Given the description of an element on the screen output the (x, y) to click on. 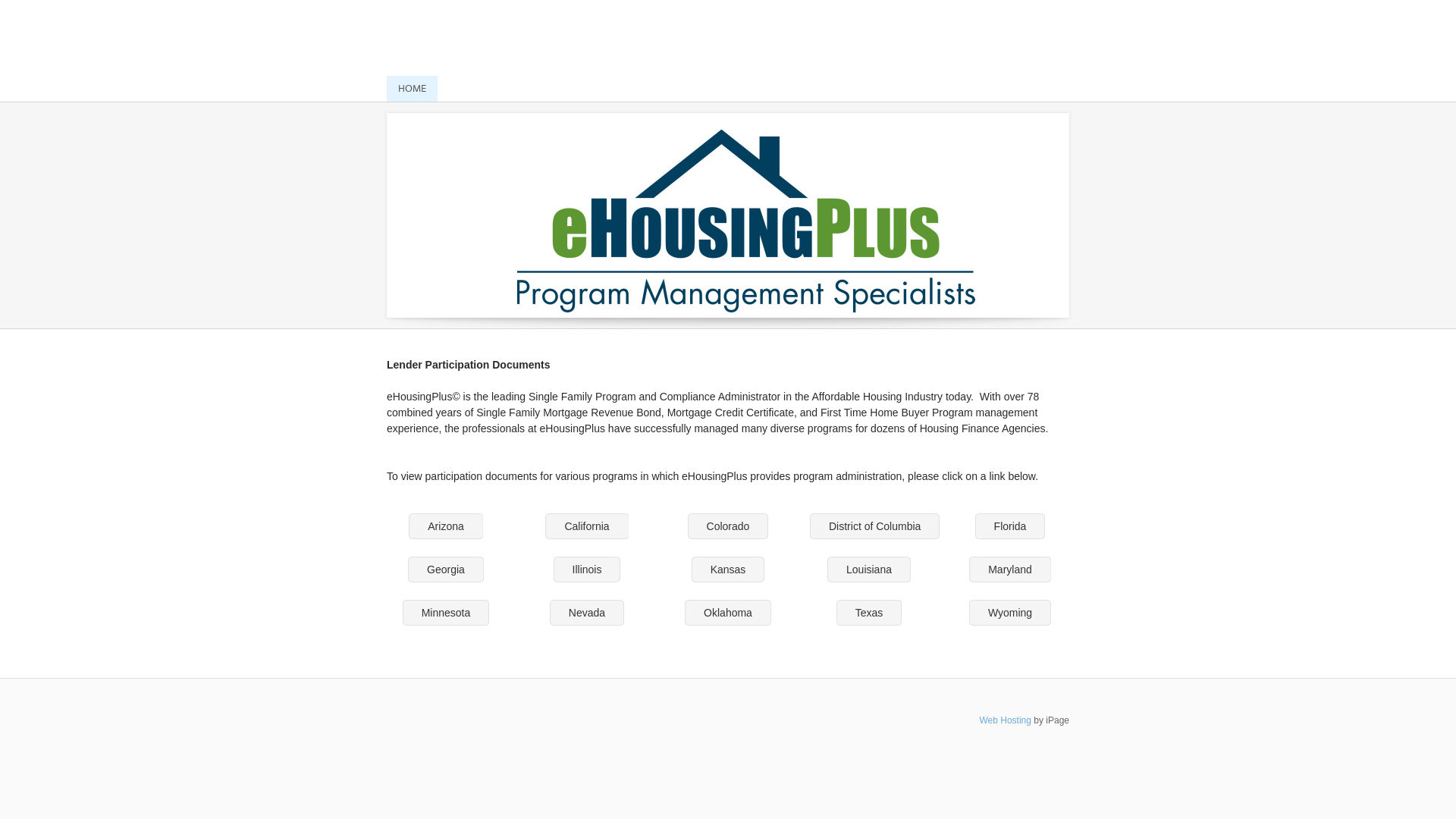
Texas Element type: text (869, 612)
Maryland Element type: text (1010, 569)
Oklahoma Element type: text (727, 612)
California Element type: text (586, 526)
Web Hosting Element type: text (1004, 720)
Wyoming Element type: text (1010, 612)
HOME Element type: text (411, 88)
Kansas Element type: text (728, 569)
Arizona Element type: text (445, 526)
Georgia Element type: text (445, 569)
Illinois Element type: text (587, 569)
Louisiana Element type: text (868, 569)
Florida Element type: text (1010, 526)
Nevada Element type: text (586, 612)
District of Columbia Element type: text (874, 526)
Colorado Element type: text (727, 526)
Minnesota Element type: text (445, 612)
